Given the description of an element on the screen output the (x, y) to click on. 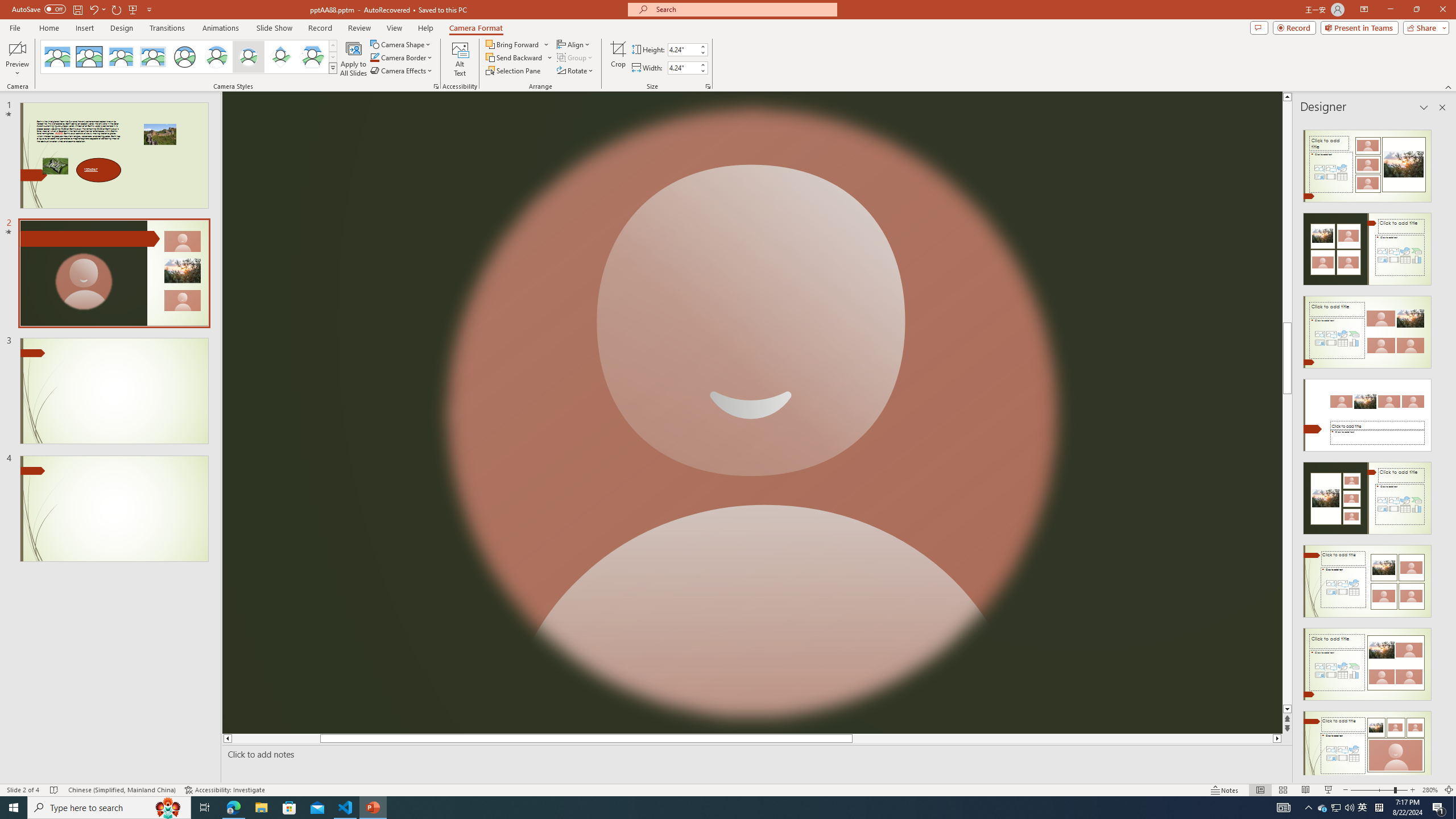
Design Idea (1366, 743)
Apply to All Slides (353, 58)
Close (1442, 9)
Share (1423, 27)
Class: NetUIImage (332, 68)
Microsoft search (742, 9)
Review (359, 28)
Class: NetUIScrollBar (1441, 447)
Record (320, 28)
Simple Frame Circle (184, 56)
Send Backward (518, 56)
Bring Forward (517, 44)
Line up (1287, 96)
Align (574, 44)
